Given the description of an element on the screen output the (x, y) to click on. 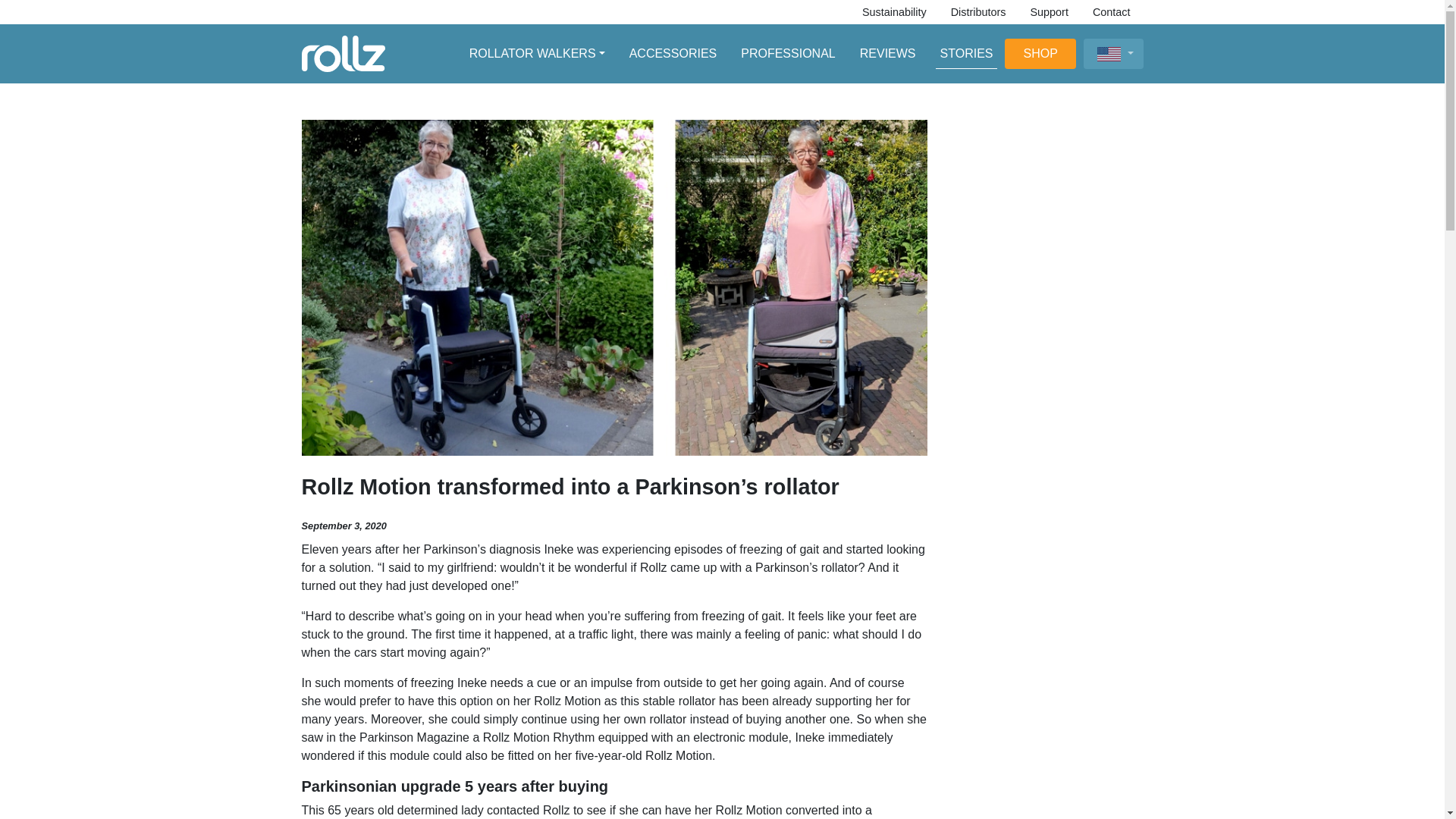
Shop (1039, 53)
ACCESSORIES (673, 53)
REVIEWS (887, 53)
Distributors (978, 12)
ROLLATOR WALKERS (537, 53)
Sustainability (894, 12)
Accessories (673, 53)
PROFESSIONAL (788, 53)
STORIES (967, 53)
Stories (967, 53)
